Given the description of an element on the screen output the (x, y) to click on. 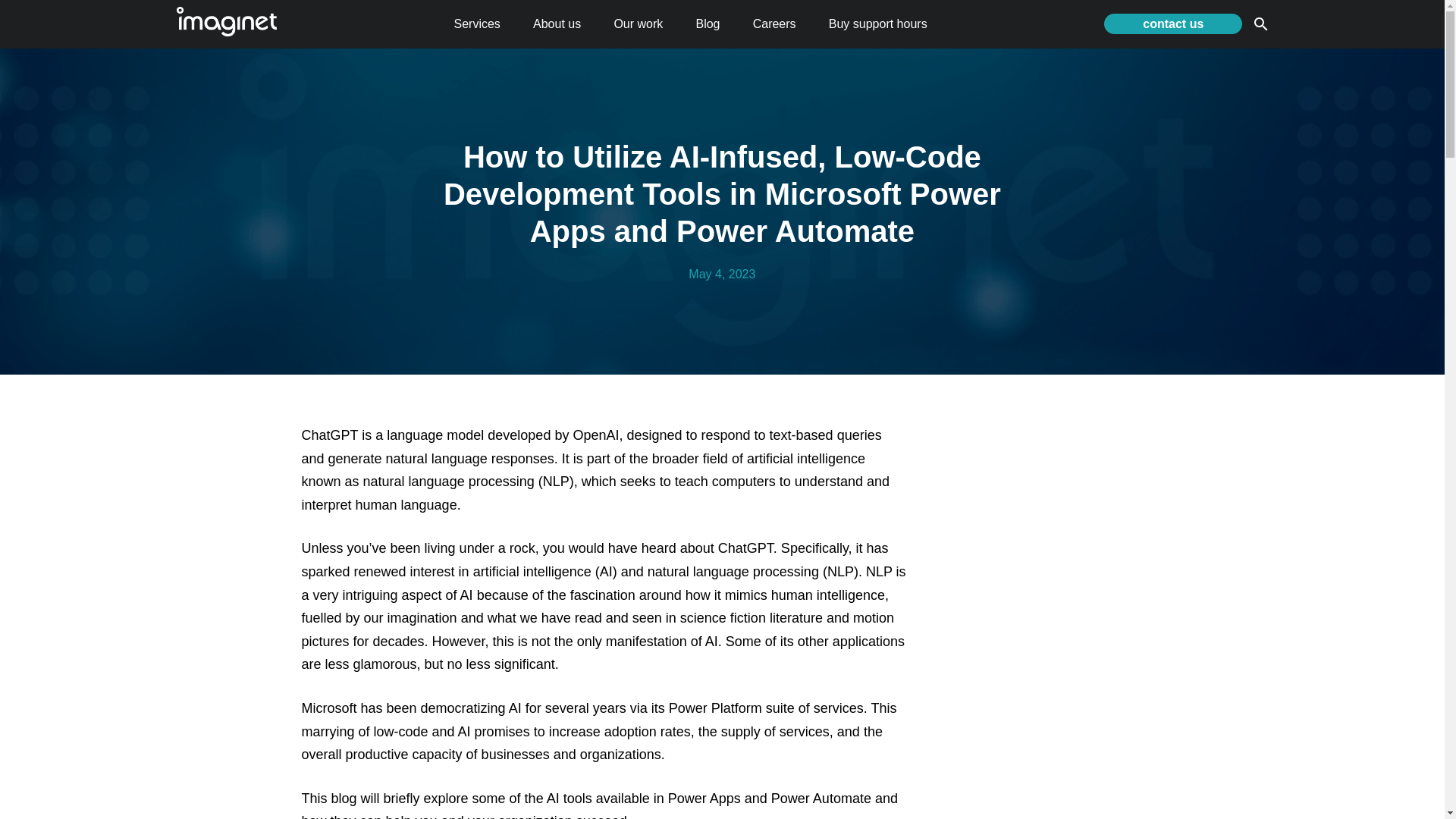
Blog (707, 23)
contact us (1172, 23)
Buy support hours (877, 23)
Careers (774, 23)
Our work (637, 23)
About us (556, 23)
Services (475, 23)
